Given the description of an element on the screen output the (x, y) to click on. 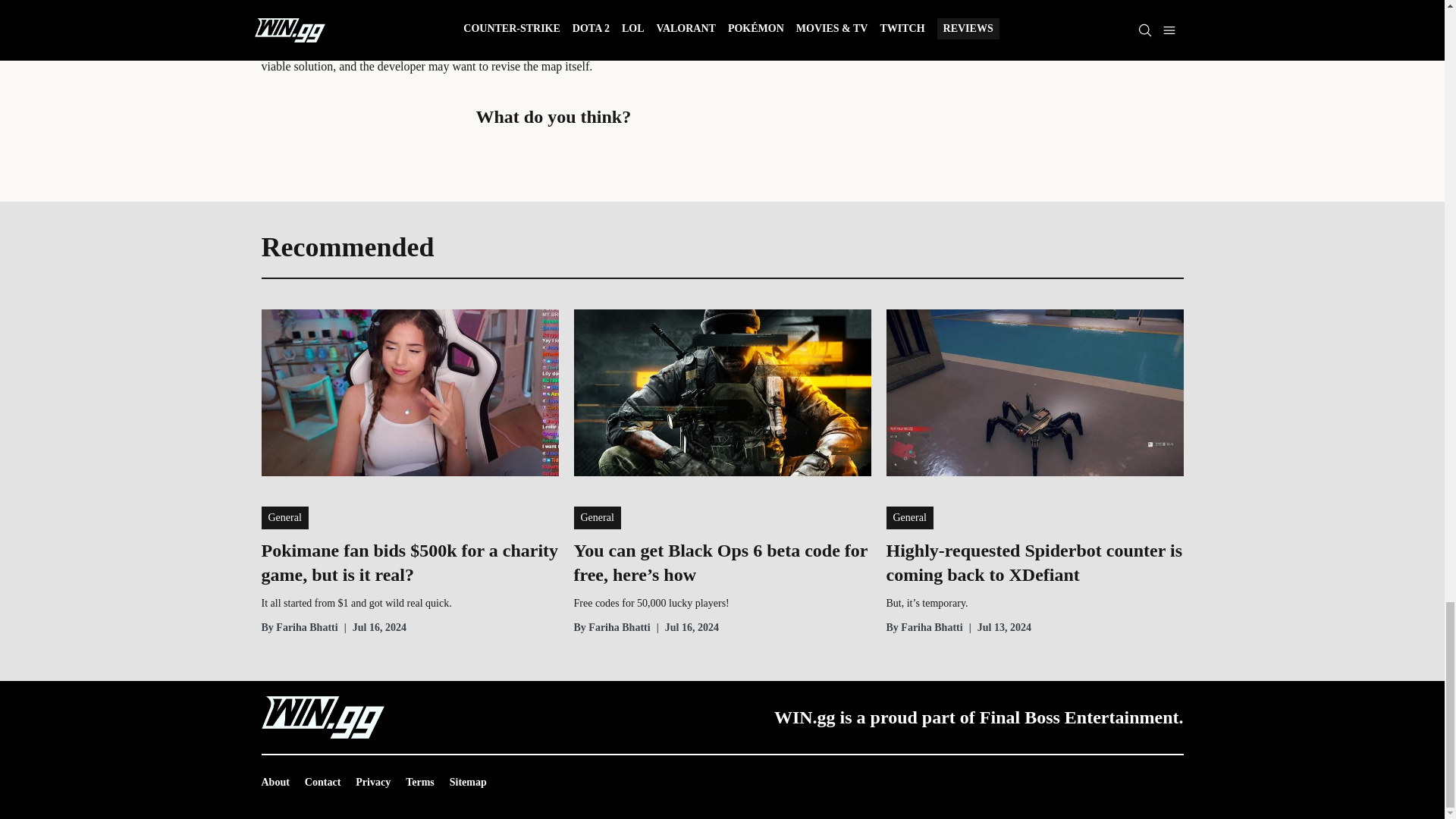
General (909, 517)
General (283, 517)
By Fariha Bhatti (611, 627)
General (596, 517)
By Fariha Bhatti (298, 627)
